Given the description of an element on the screen output the (x, y) to click on. 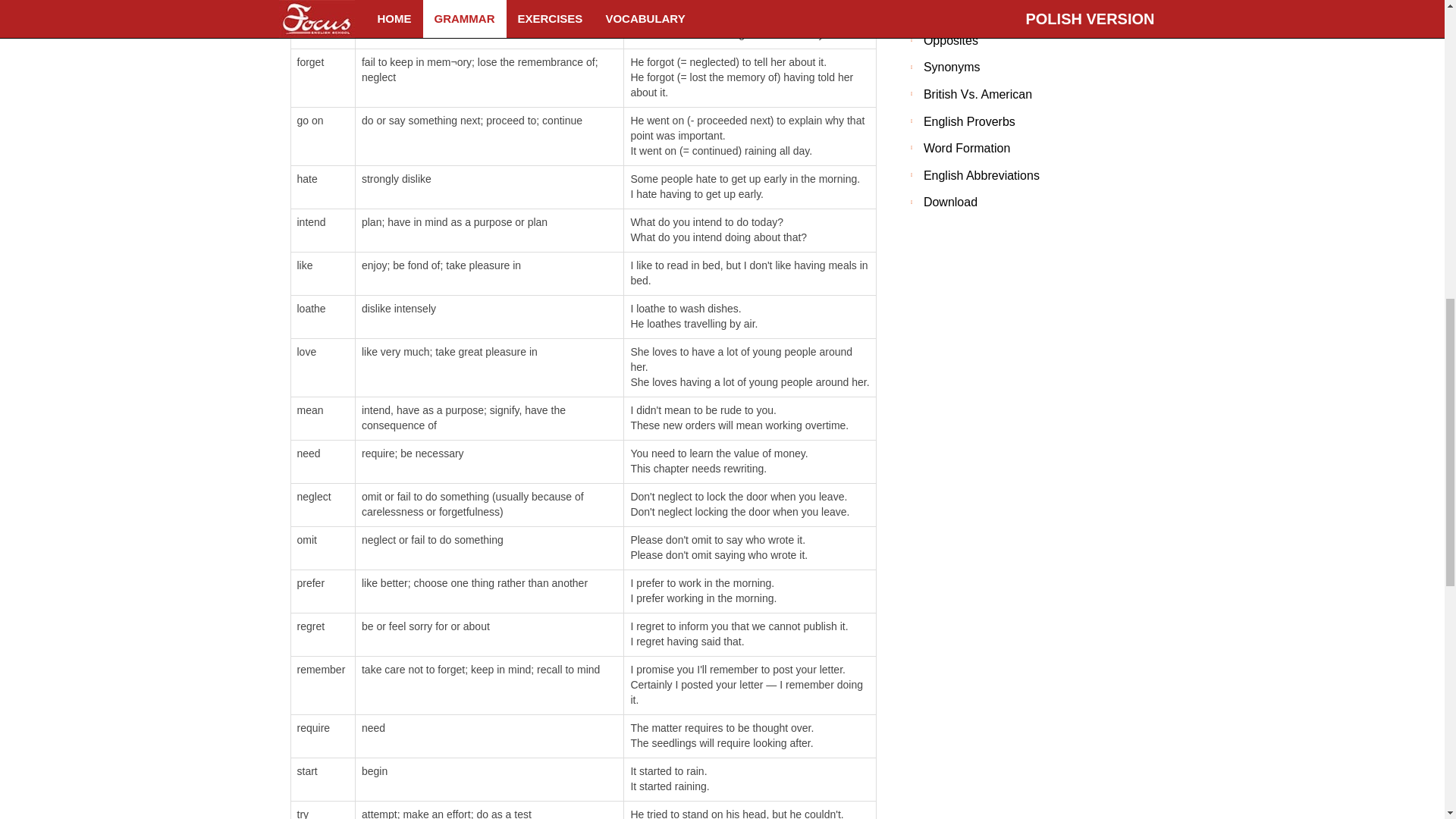
Verbs followed by infinitive or -ing form (652, 763)
Home (378, 763)
English Grammar (447, 763)
Grammar exercises - Infinitive (374, 711)
Infinitive (521, 763)
